Given the description of an element on the screen output the (x, y) to click on. 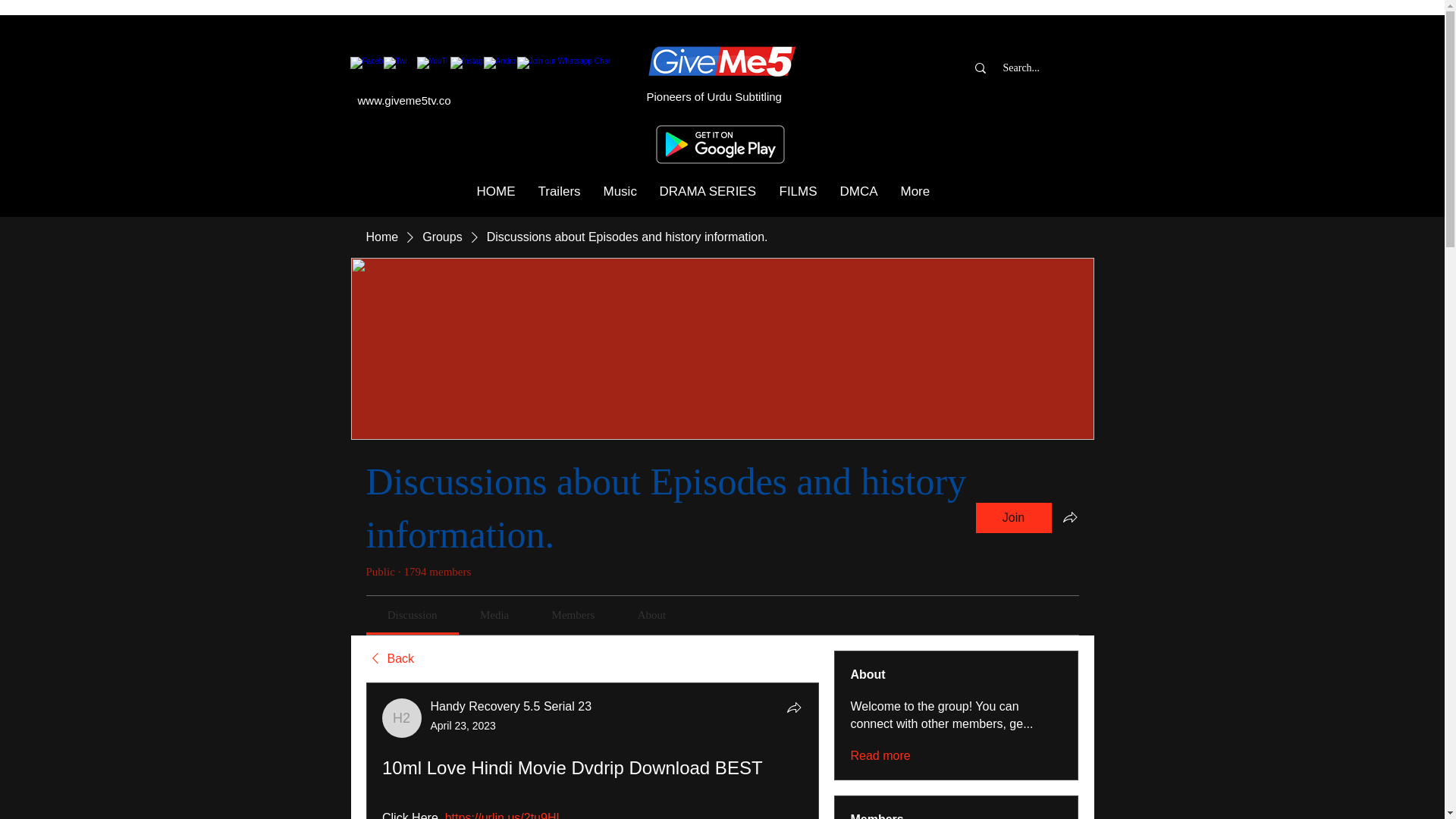
GIVEME5 (729, 55)
Handy Recovery 5.5 Serial 23 (401, 717)
www.giveme5tv.co (404, 100)
Music (619, 191)
HOME (496, 191)
FILMS (797, 191)
DMCA (858, 191)
Trailers (558, 191)
DRAMA SERIES (707, 191)
